Given the description of an element on the screen output the (x, y) to click on. 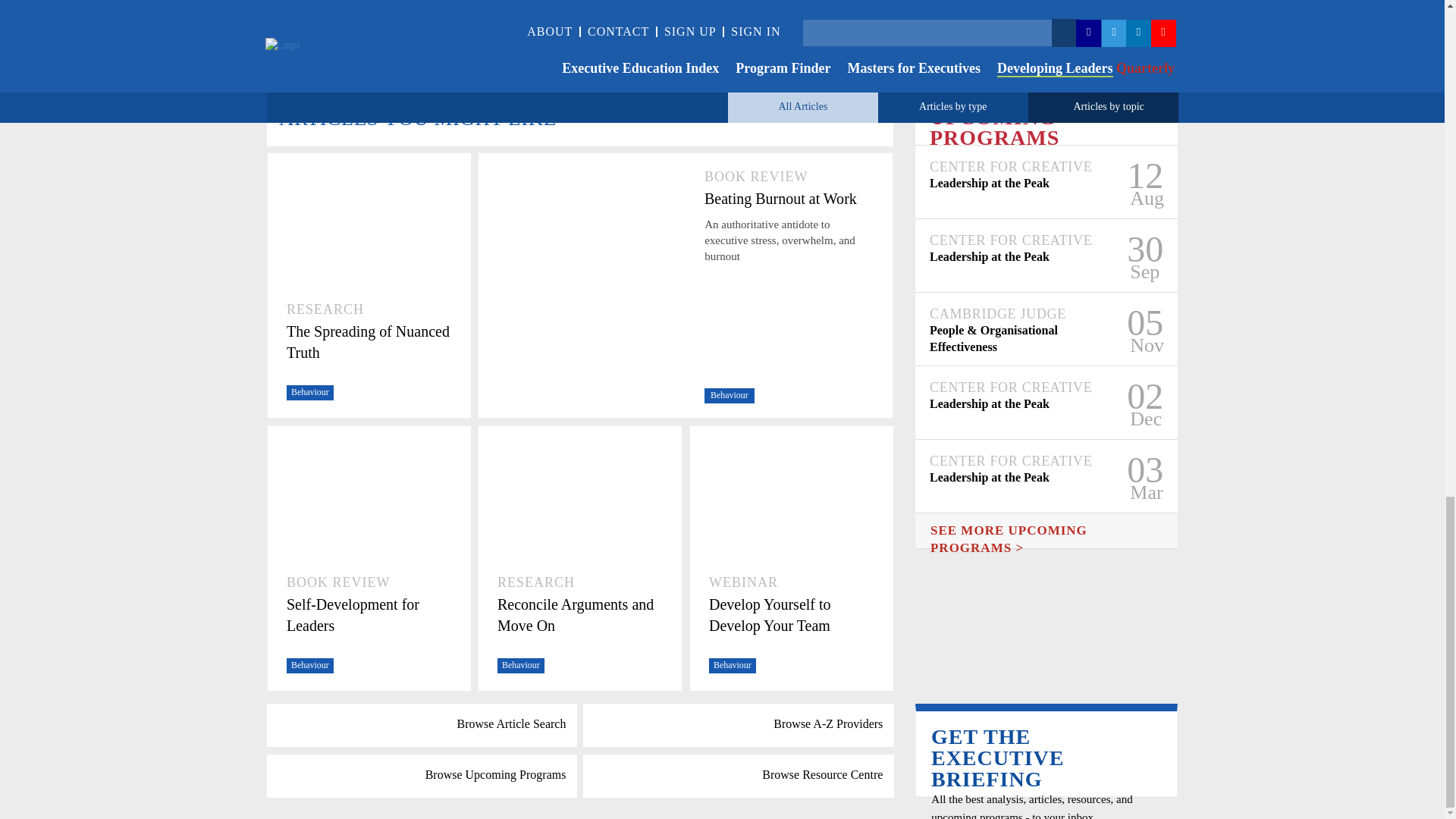
Develop Yourself to Develop Your Team (792, 614)
Beating Burnout at Work (788, 198)
The Spreading of Nuanced Truth (368, 342)
Self-Development for Leaders (368, 614)
Reconcile Arguments and Move On (579, 614)
